Given the description of an element on the screen output the (x, y) to click on. 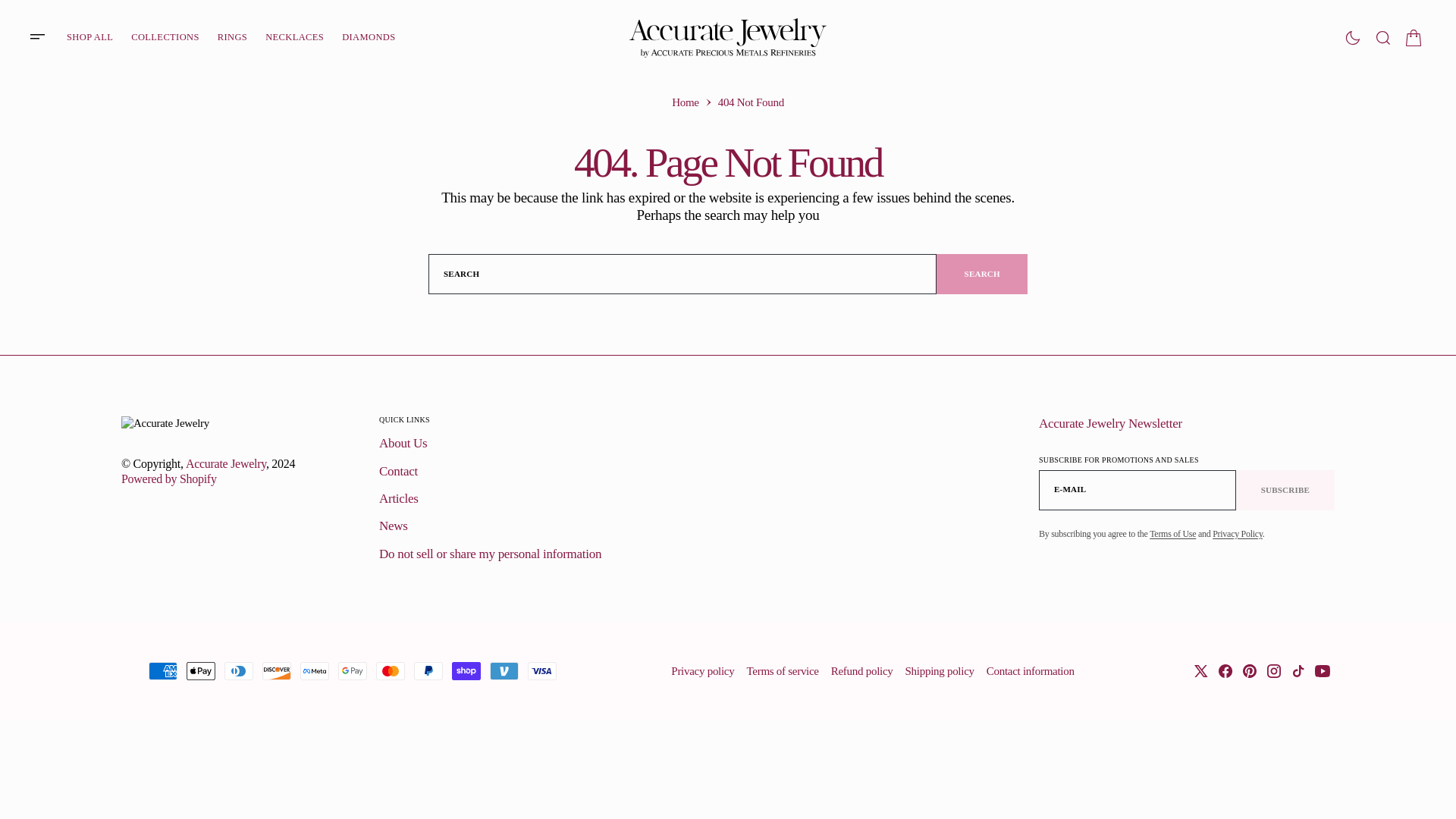
SHOP ALL (90, 37)
Privacy Policy (1237, 533)
Necklaces (293, 36)
Terms of Service (1172, 533)
COLLECTIONS (165, 37)
Shop All (89, 36)
Rings (231, 36)
Search (1382, 37)
Diamonds (368, 36)
Home (684, 102)
